Given the description of an element on the screen output the (x, y) to click on. 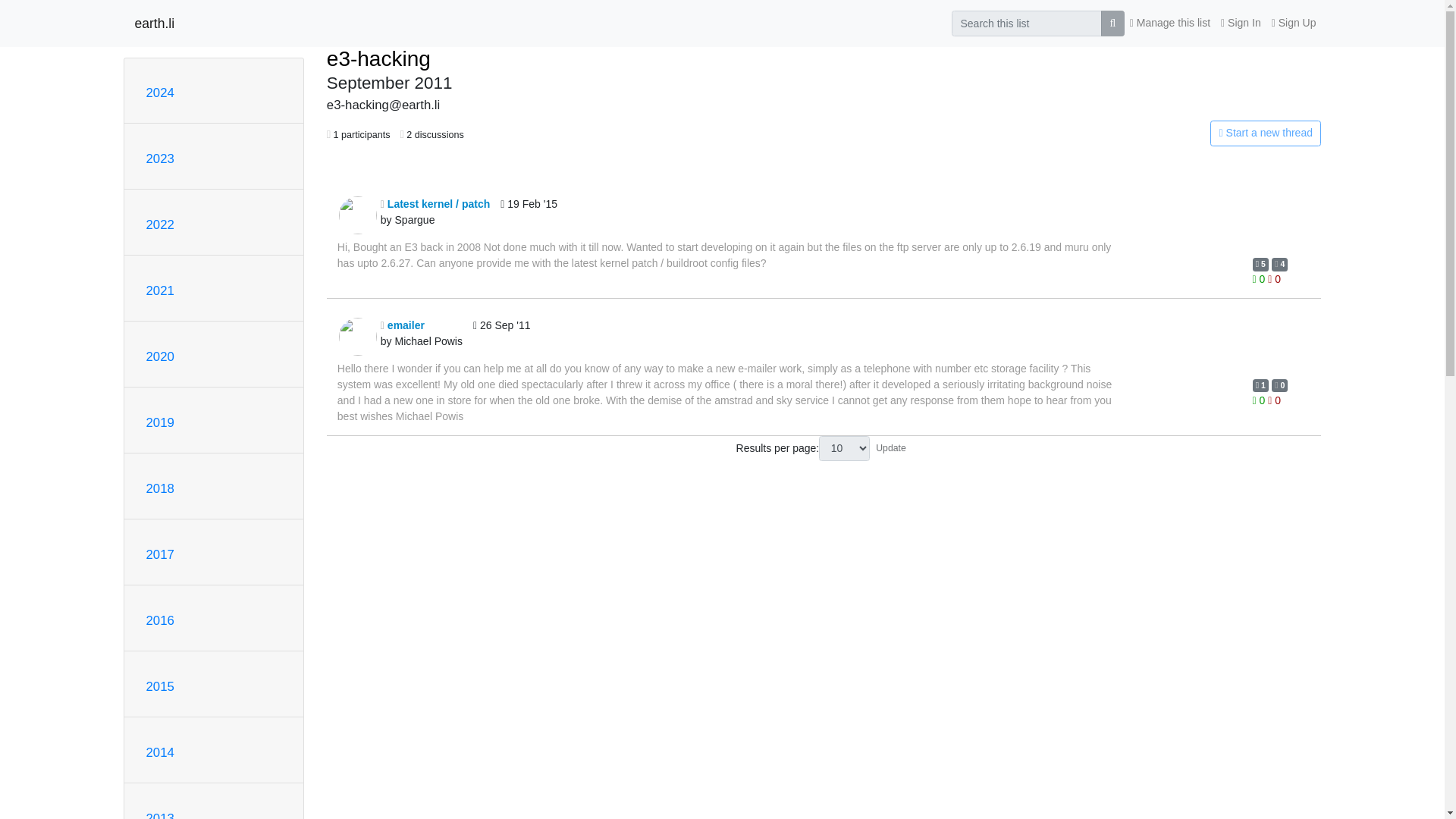
Manage this list (1169, 22)
You must be logged-in to vote. (1260, 278)
earth.li (154, 22)
Update (890, 448)
Sign Up (1294, 22)
Sign In (1240, 22)
Thursday, 19 February 2015 09:48:13 (528, 215)
2023 (159, 158)
You must be logged-in to vote. (1274, 399)
2024 (159, 92)
You must be logged-in to create a thread. (1162, 133)
You must be logged-in to vote. (1274, 278)
2022 (159, 224)
Monday, 26 September 2011 10:46:40 (502, 336)
You must be logged-in to vote. (1260, 399)
